Given the description of an element on the screen output the (x, y) to click on. 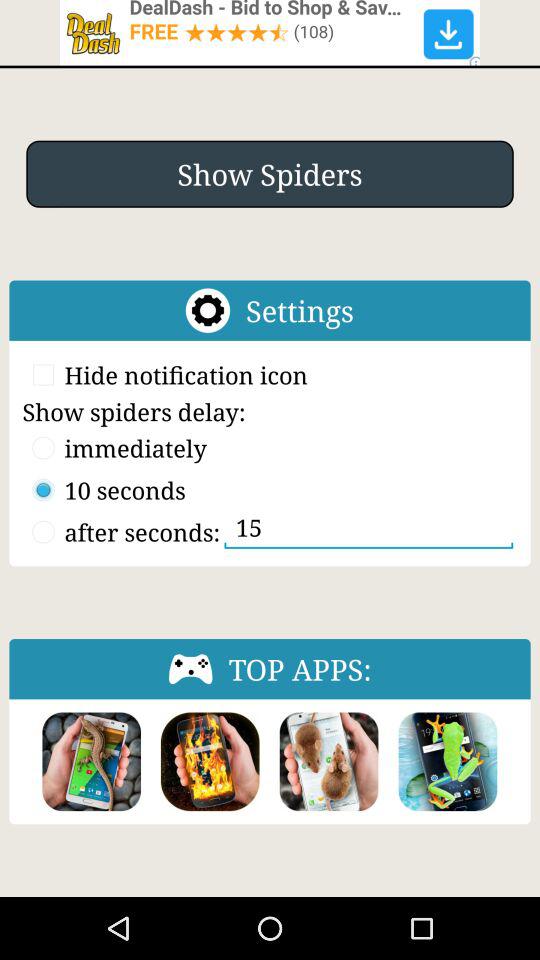
game option (447, 761)
